Given the description of an element on the screen output the (x, y) to click on. 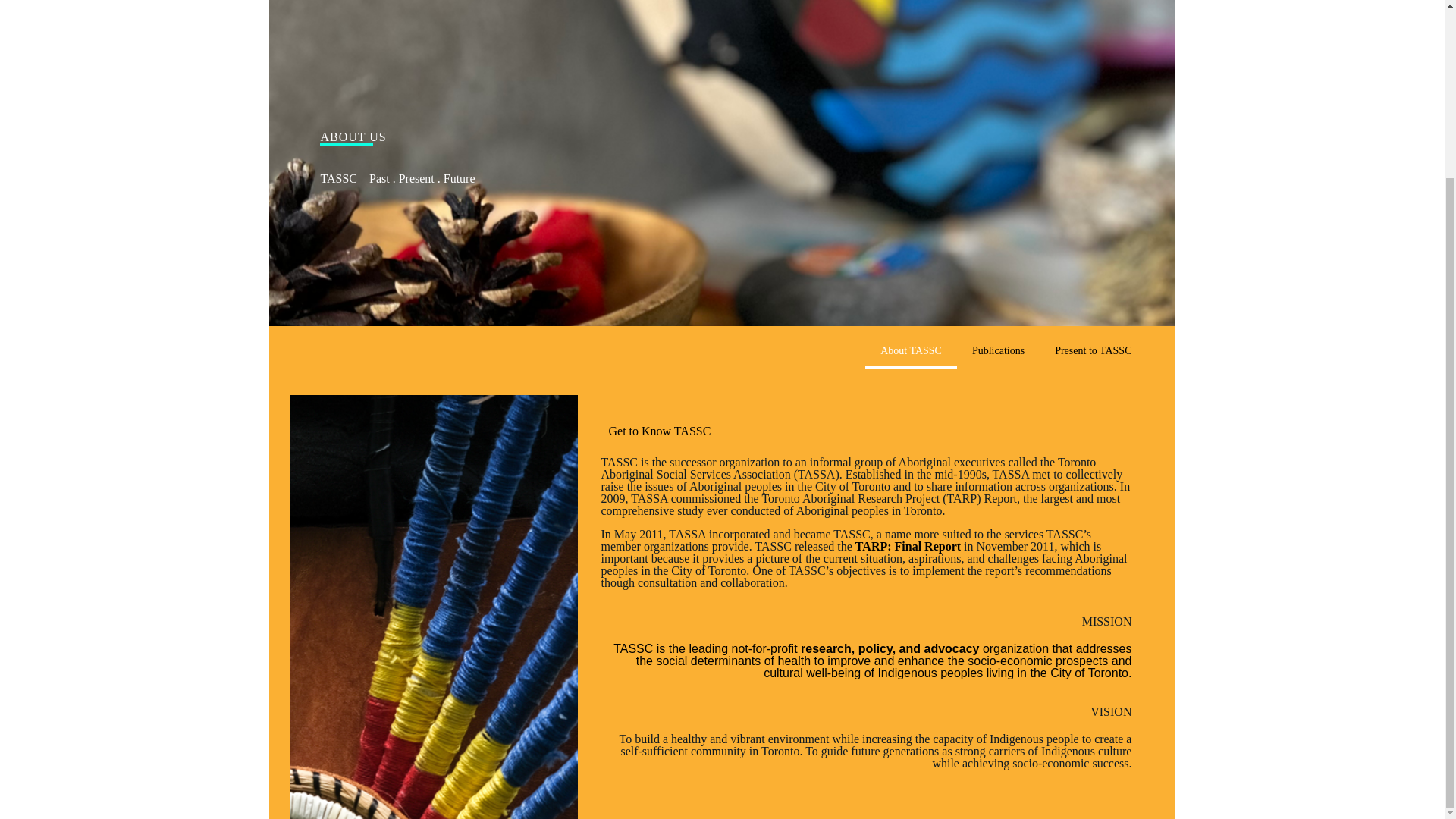
TARP: Final Report (908, 545)
Present to TASSC (1093, 350)
Publications (997, 350)
About TASSC (910, 350)
research, policy, and advocacy (889, 648)
